Given the description of an element on the screen output the (x, y) to click on. 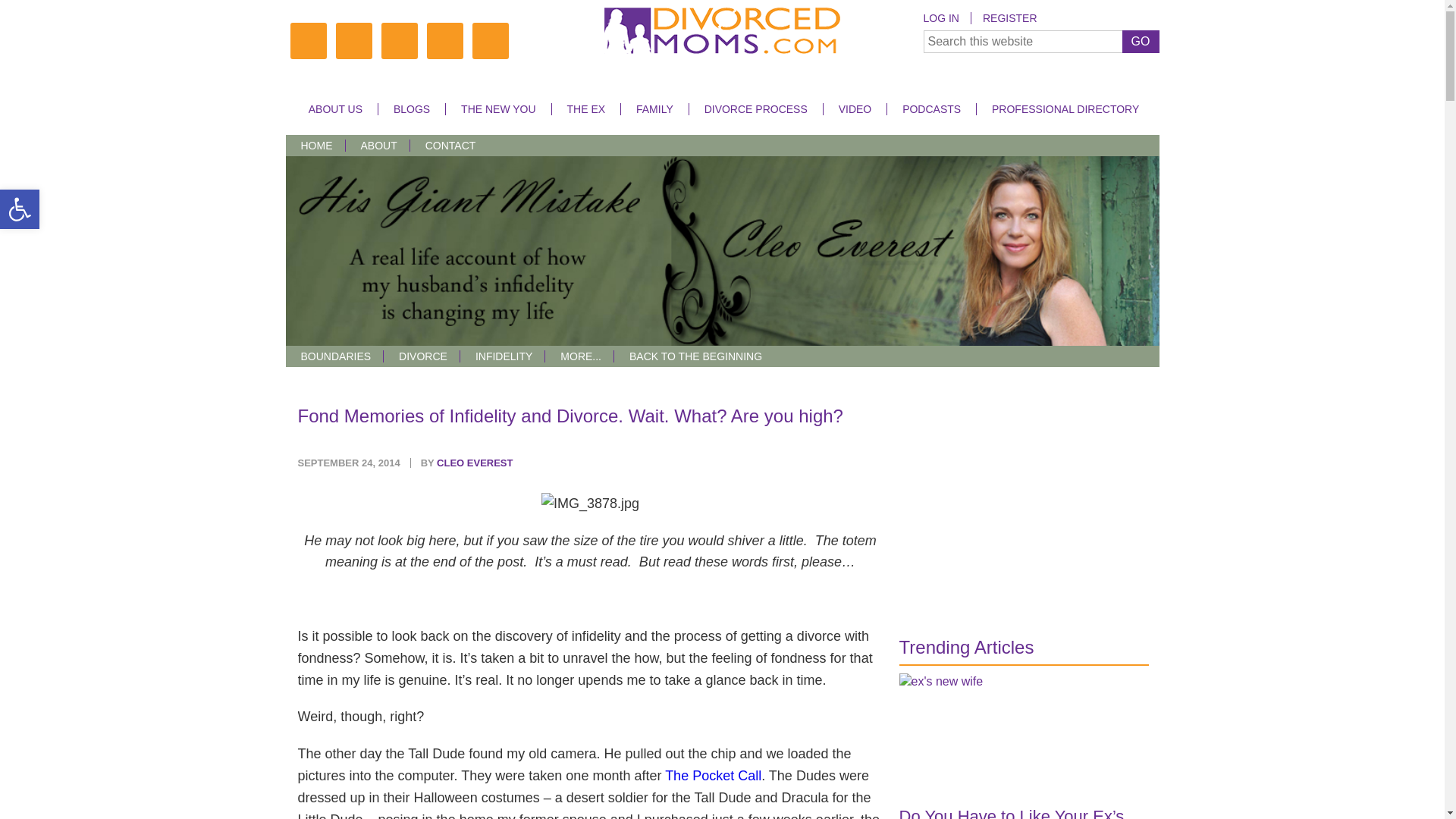
GO (1140, 41)
Accessibility Tools (19, 209)
ABOUT US (335, 109)
FAMILY (654, 109)
THE NEW YOU (498, 109)
REGISTER (1009, 18)
THE EX (585, 109)
Divorced Moms (721, 33)
LOG IN (947, 18)
Search Website (1040, 41)
